Given the description of an element on the screen output the (x, y) to click on. 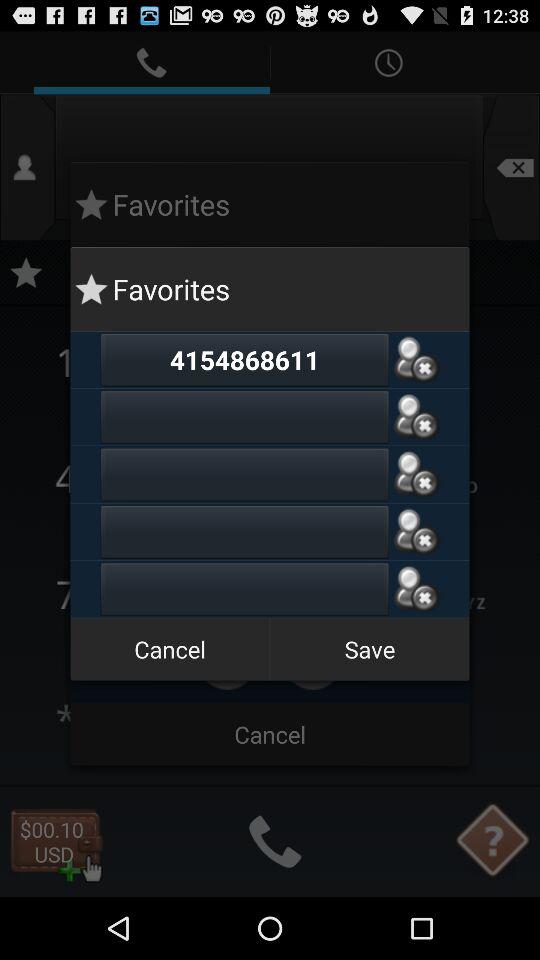
enter new favorite (244, 589)
